Given the description of an element on the screen output the (x, y) to click on. 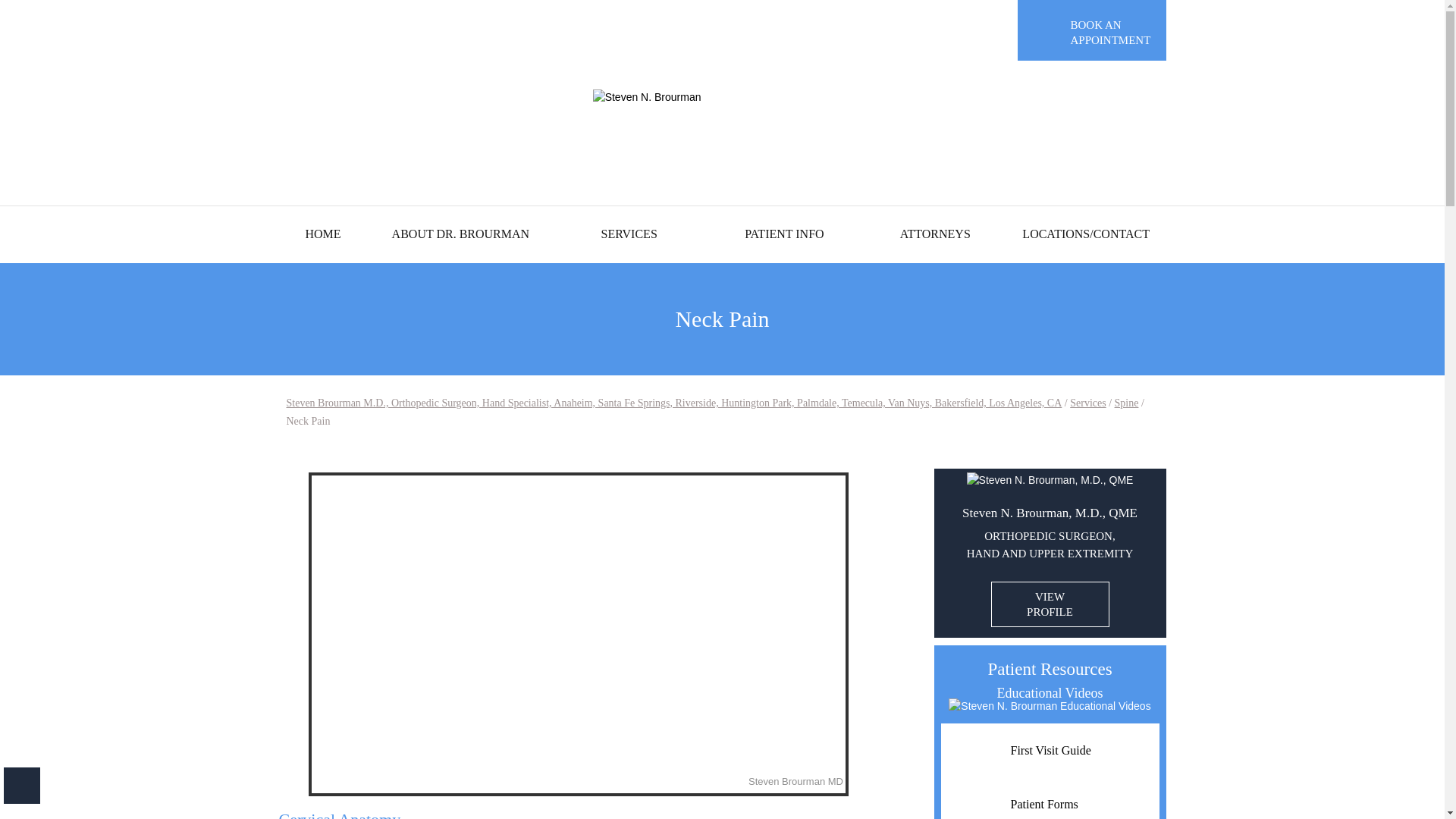
BOOK AN APPOINTMENT (1091, 30)
Accessible Tool Options (22, 785)
HOME (323, 234)
ABOUT DR. BROURMAN (461, 234)
SERVICES (628, 234)
Hide (22, 785)
